Given the description of an element on the screen output the (x, y) to click on. 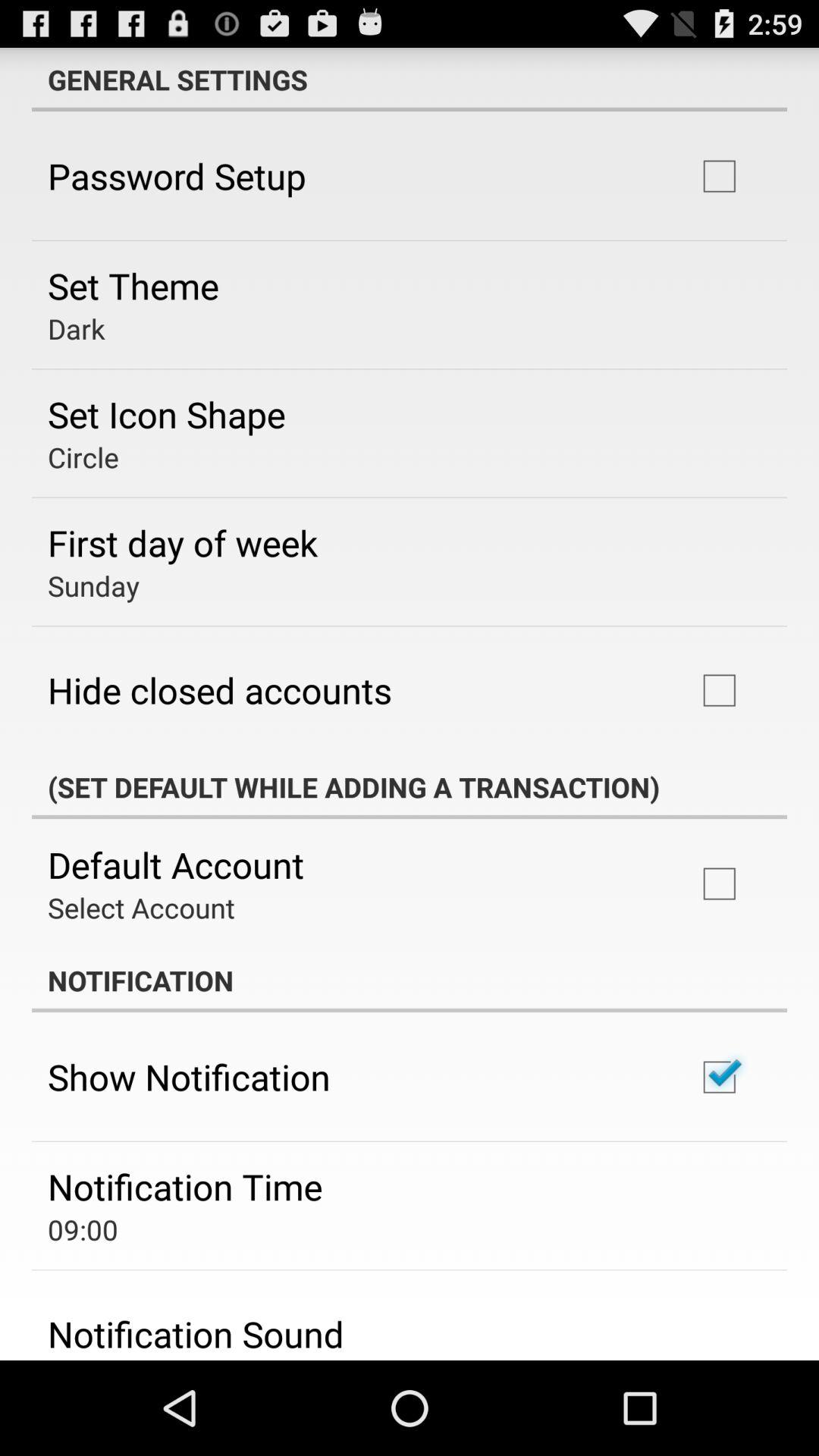
tap the app below the sunday (219, 690)
